Given the description of an element on the screen output the (x, y) to click on. 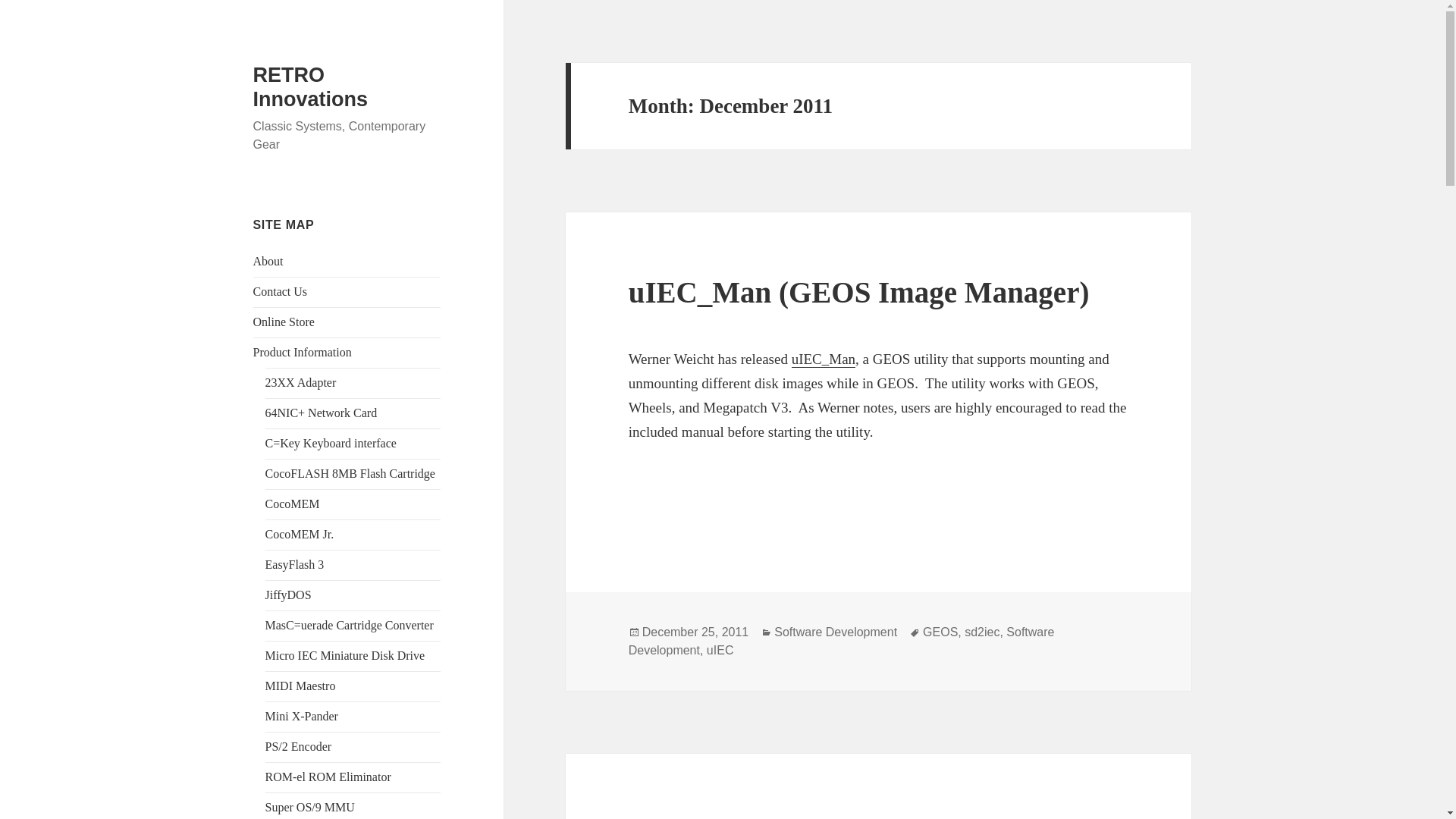
23XX Adapter (300, 382)
ROM-el ROM Eliminator (327, 776)
CocoMEM Jr. (299, 533)
MIDI Maestro (300, 685)
Product Information (302, 351)
JiffyDOS (287, 594)
RETRO Innovations (310, 86)
CocoFLASH 8MB Flash Cartridge (349, 472)
Micro IEC Miniature Disk Drive (344, 655)
Contact Us (280, 291)
